Given the description of an element on the screen output the (x, y) to click on. 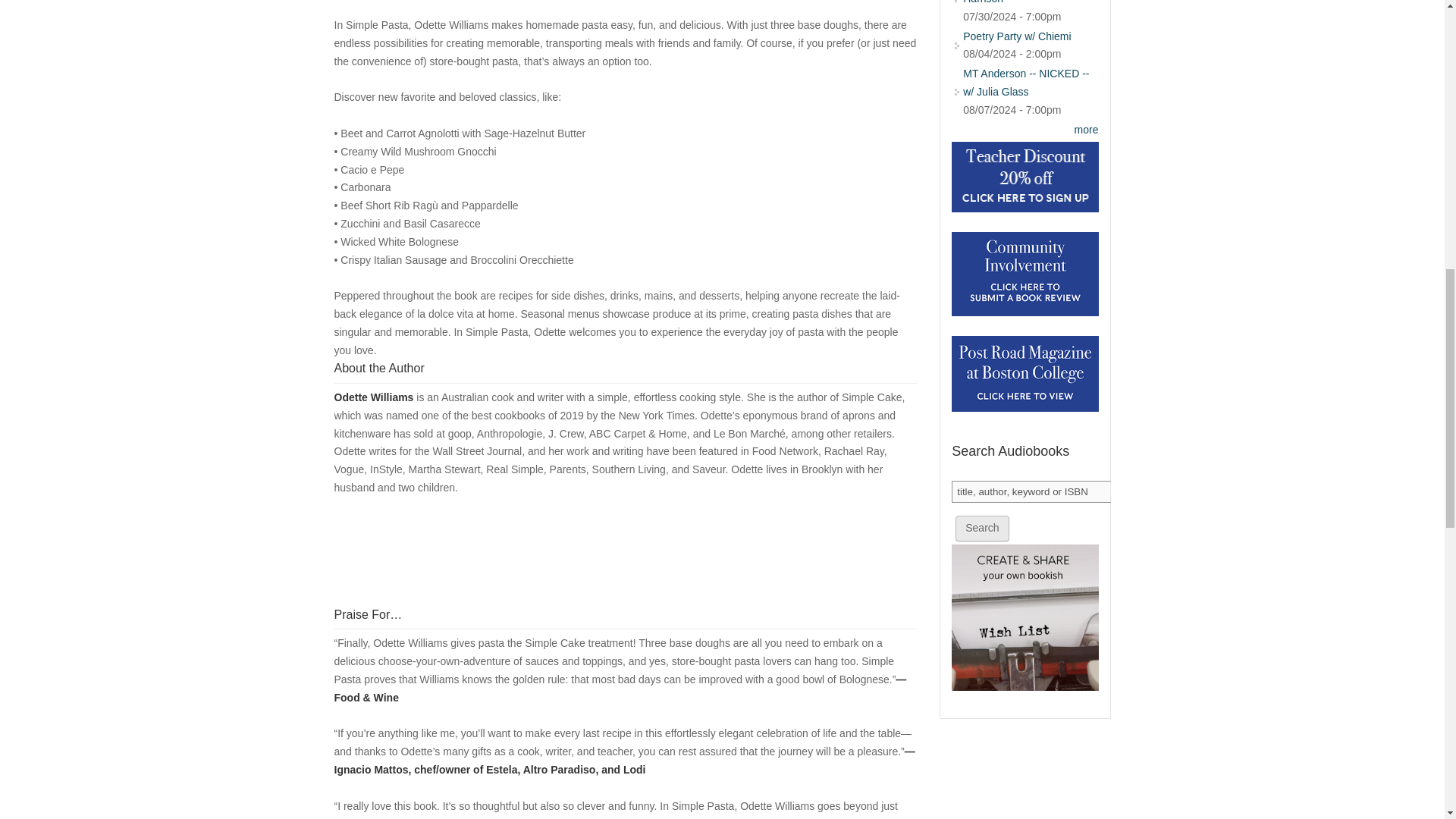
Search (982, 528)
title, author, keyword or ISBN (1033, 491)
Enter title, author, keyword or ISBN. (1033, 491)
